Given the description of an element on the screen output the (x, y) to click on. 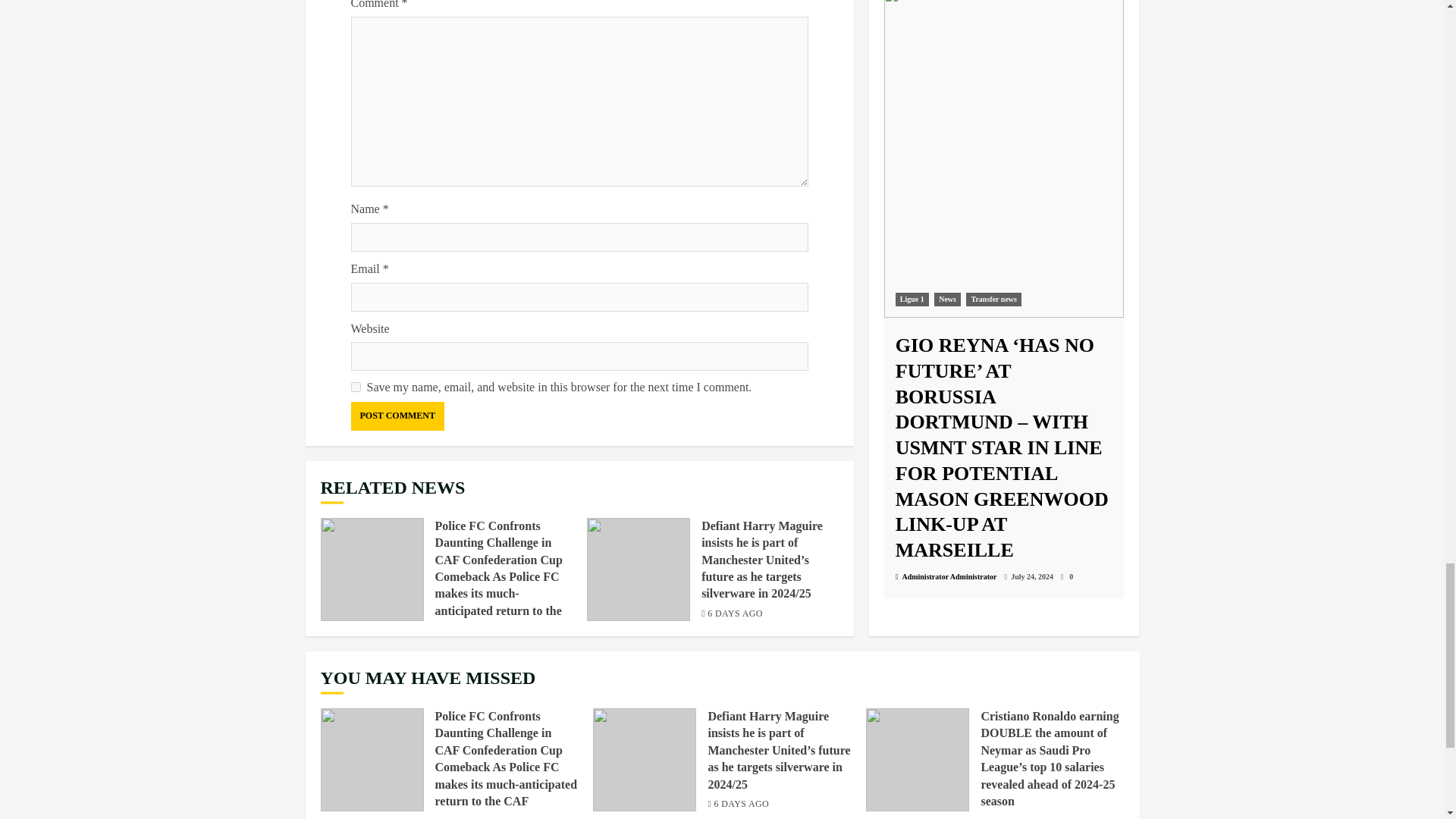
yes (354, 387)
Post Comment (397, 416)
Post Comment (397, 416)
